Given the description of an element on the screen output the (x, y) to click on. 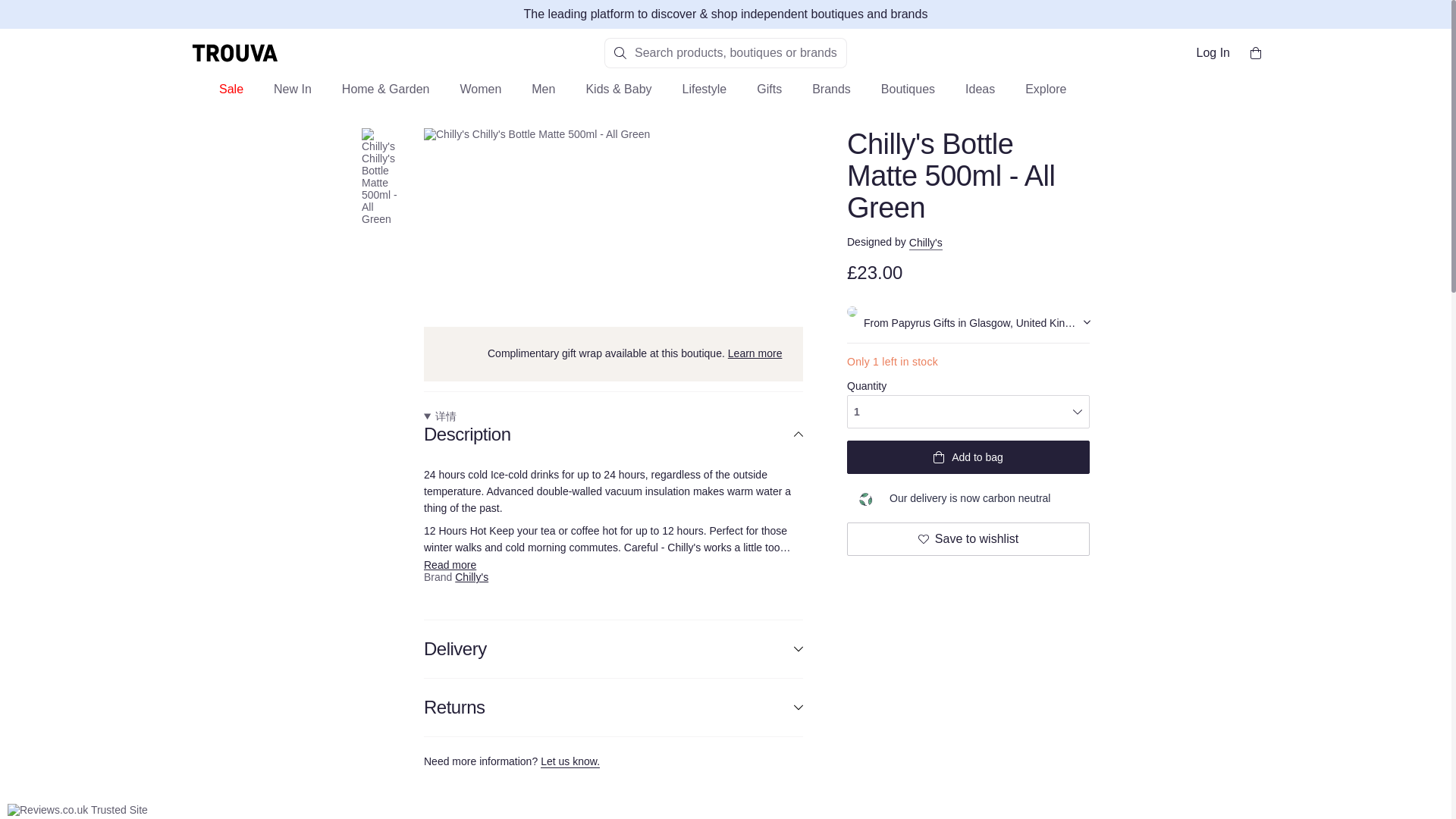
Sale (231, 95)
New In (292, 95)
